Given the description of an element on the screen output the (x, y) to click on. 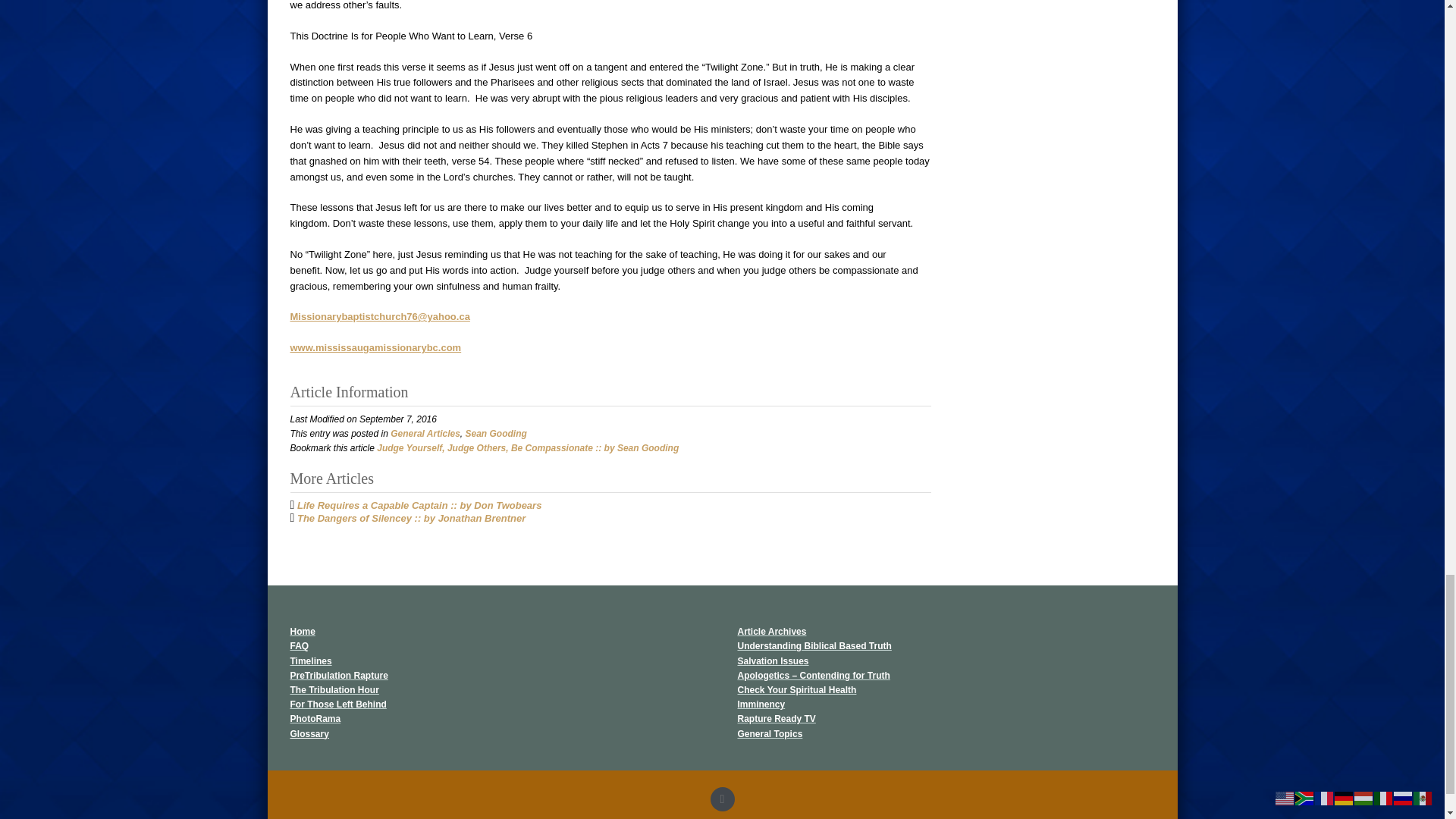
Article Archives (771, 631)
Life Requires a Capable Captain :: by Don Twobears (419, 505)
FAQ (298, 645)
PhotoRama (314, 718)
Imminency (760, 704)
PreTribulation Rapture (338, 675)
Rapture Ready TV (775, 718)
www.mississaugamissionarybc.com (375, 347)
General Articles (425, 433)
